Given the description of an element on the screen output the (x, y) to click on. 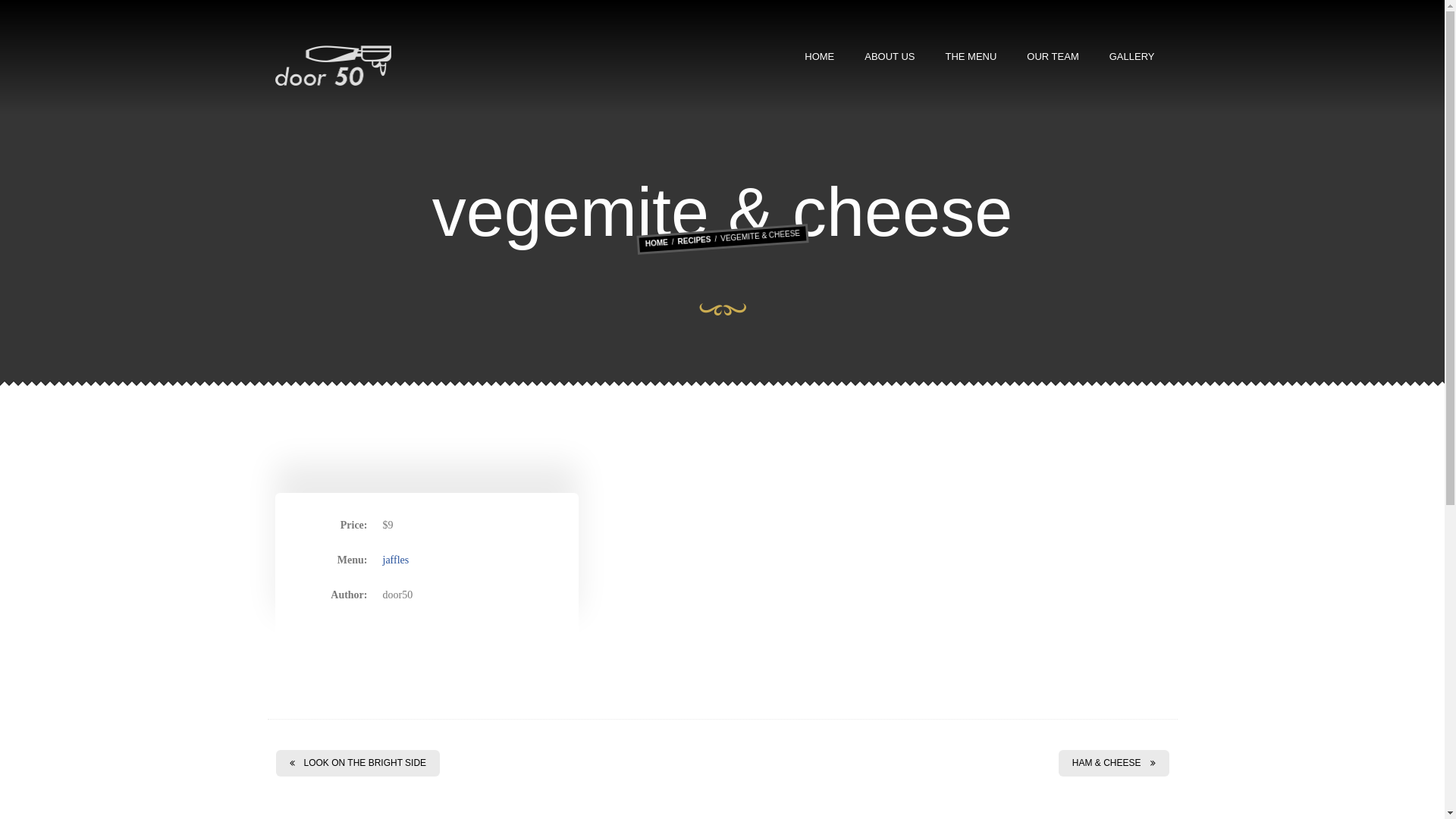
THE MENU Element type: text (970, 56)
ABOUT US Element type: text (889, 56)
GALLERY Element type: text (1132, 56)
LOOK ON THE BRIGHT SIDE Element type: text (358, 762)
HOME Element type: text (819, 56)
jaffles Element type: text (395, 559)
HOME Element type: text (655, 242)
RECIPES Element type: text (693, 239)
HAM & CHEESE Element type: text (1113, 762)
OUR TEAM Element type: text (1052, 56)
